Given the description of an element on the screen output the (x, y) to click on. 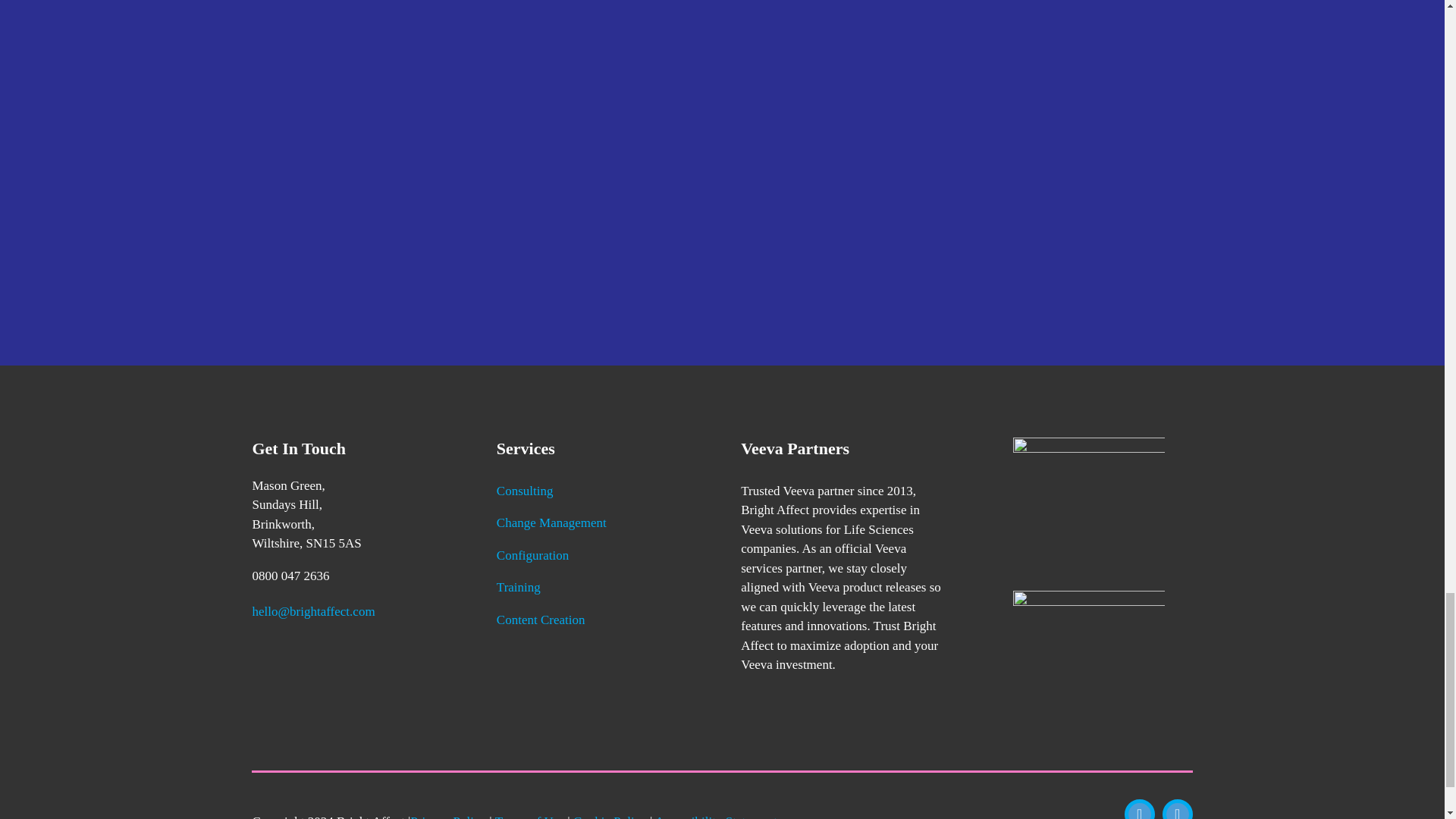
LinkedIn (1176, 809)
X (1139, 809)
